Given the description of an element on the screen output the (x, y) to click on. 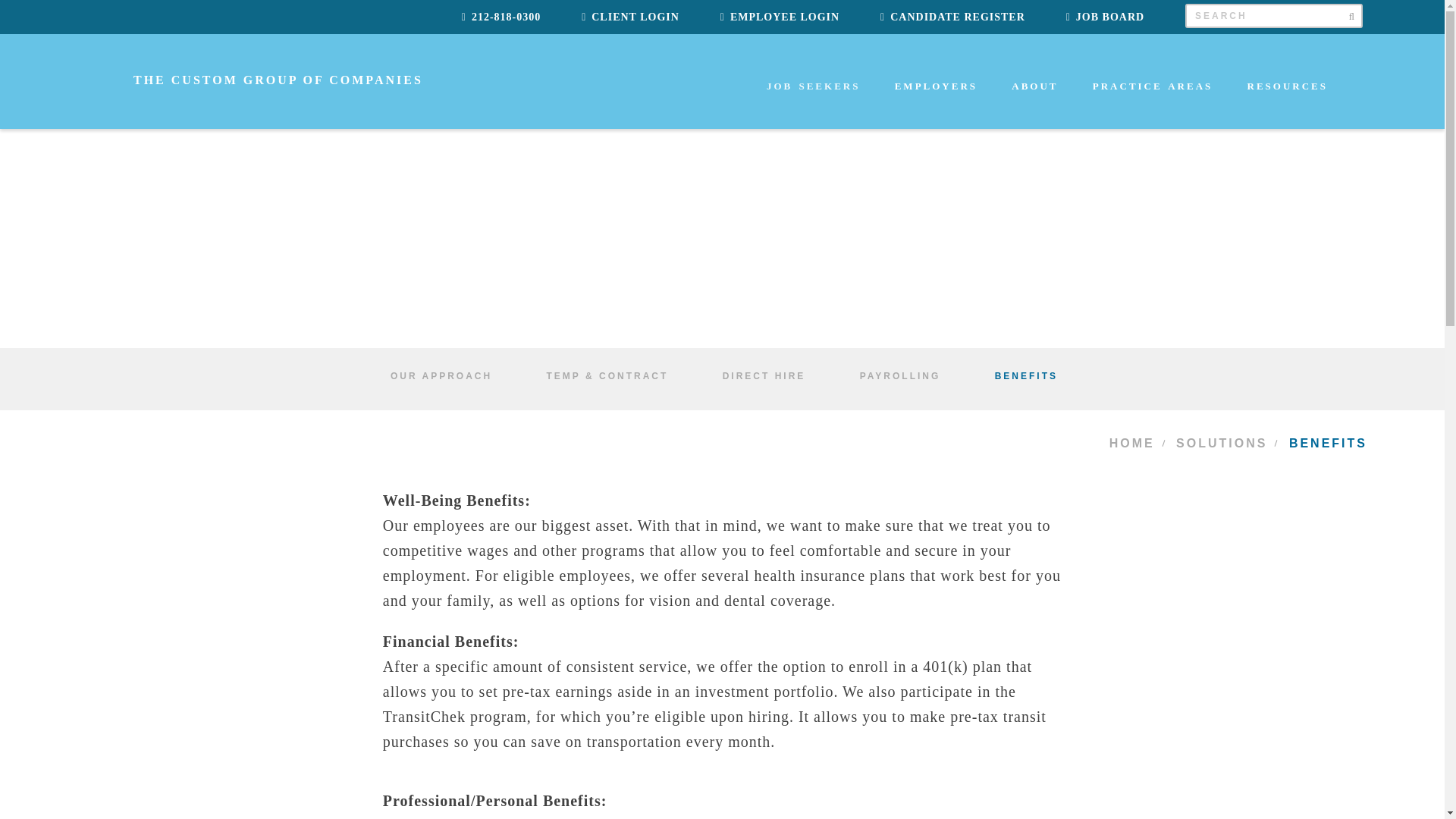
JOB SEEKERS (815, 106)
RESOURCES (1289, 106)
CLIENT LOGIN (630, 17)
THE CUSTOM GROUP OF COMPANIES (252, 79)
ABOUT (1036, 106)
JOB BOARD (1104, 17)
Go to Home. (1136, 442)
EMPLOYERS (938, 106)
PRACTICE AREAS (1155, 106)
Go to Solutions. (1226, 442)
CANDIDATE REGISTER (952, 17)
EMPLOYEE LOGIN (780, 17)
212-818-0300 (500, 17)
Enter the terms you wish to search for. (1273, 15)
